Given the description of an element on the screen output the (x, y) to click on. 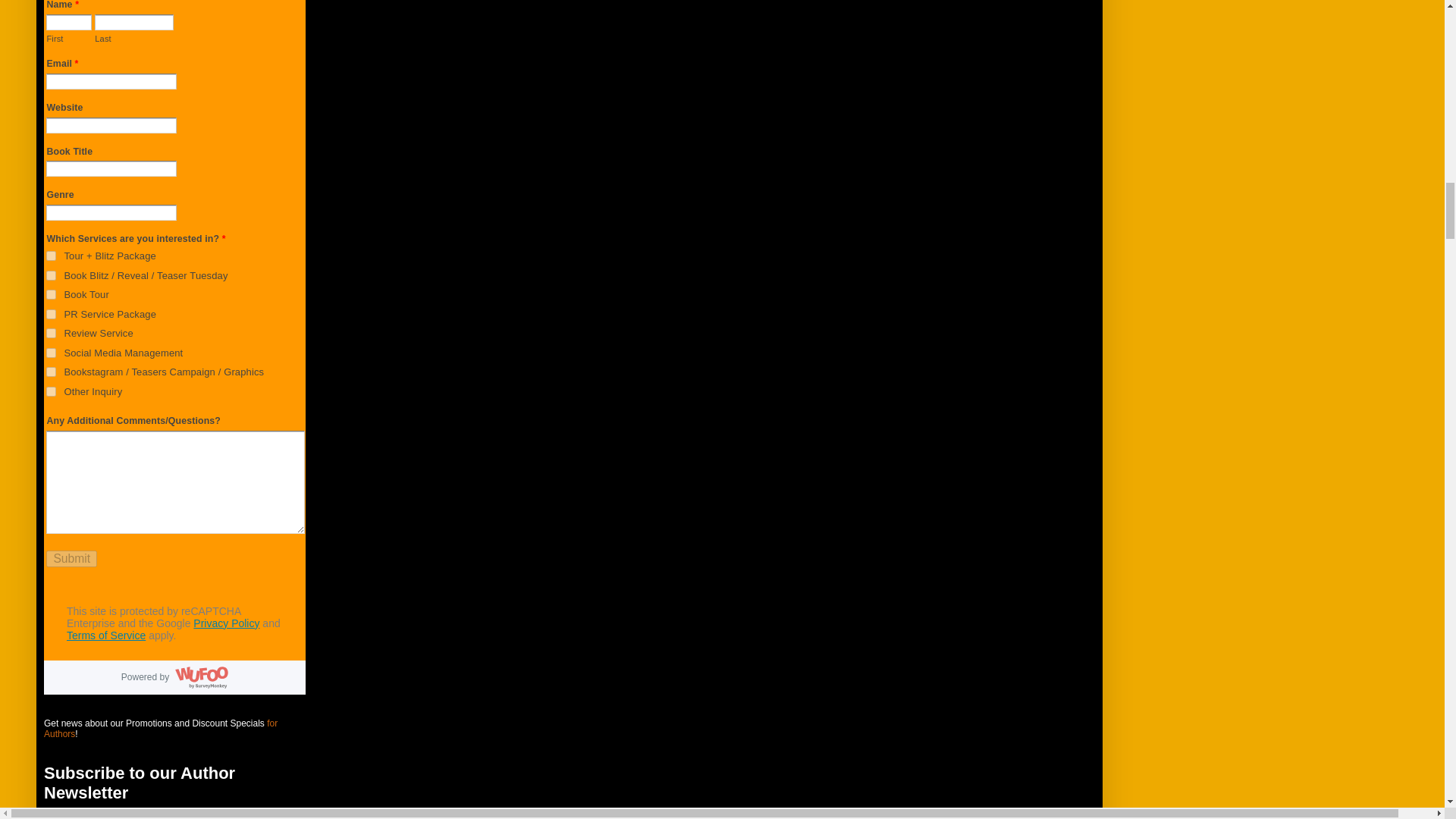
for Authors (160, 728)
